Given the description of an element on the screen output the (x, y) to click on. 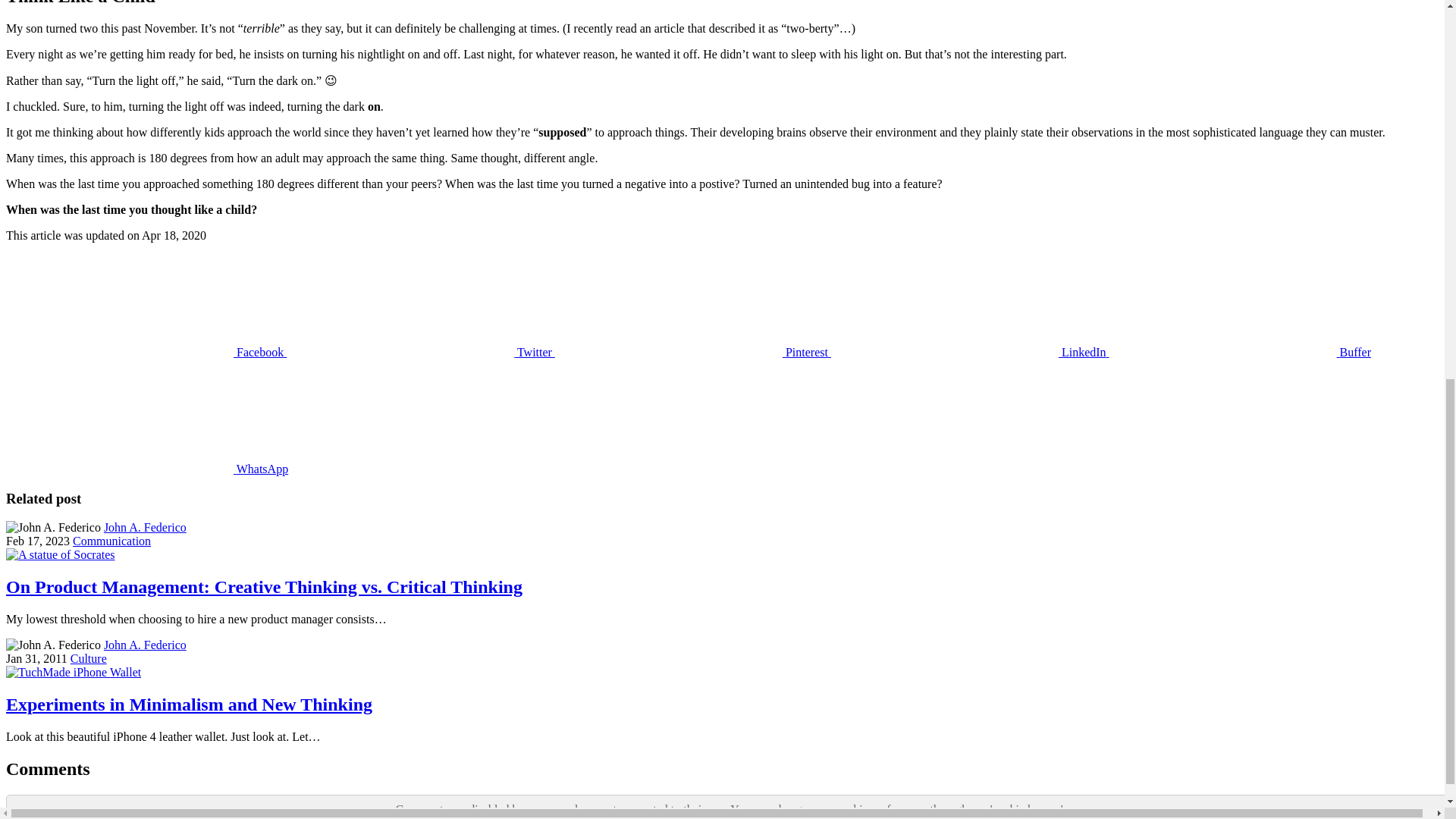
WhatsApp (146, 468)
LinkedIn (970, 351)
Experiments in Minimalism and New Thinking (188, 704)
Communication (111, 540)
Pinterest (692, 351)
Facebook (145, 351)
Share with LinkedIn (146, 468)
John A. Federico (144, 526)
Buffer (1240, 351)
John A. Federico (144, 644)
Twitter (420, 351)
Culture (87, 658)
